Given the description of an element on the screen output the (x, y) to click on. 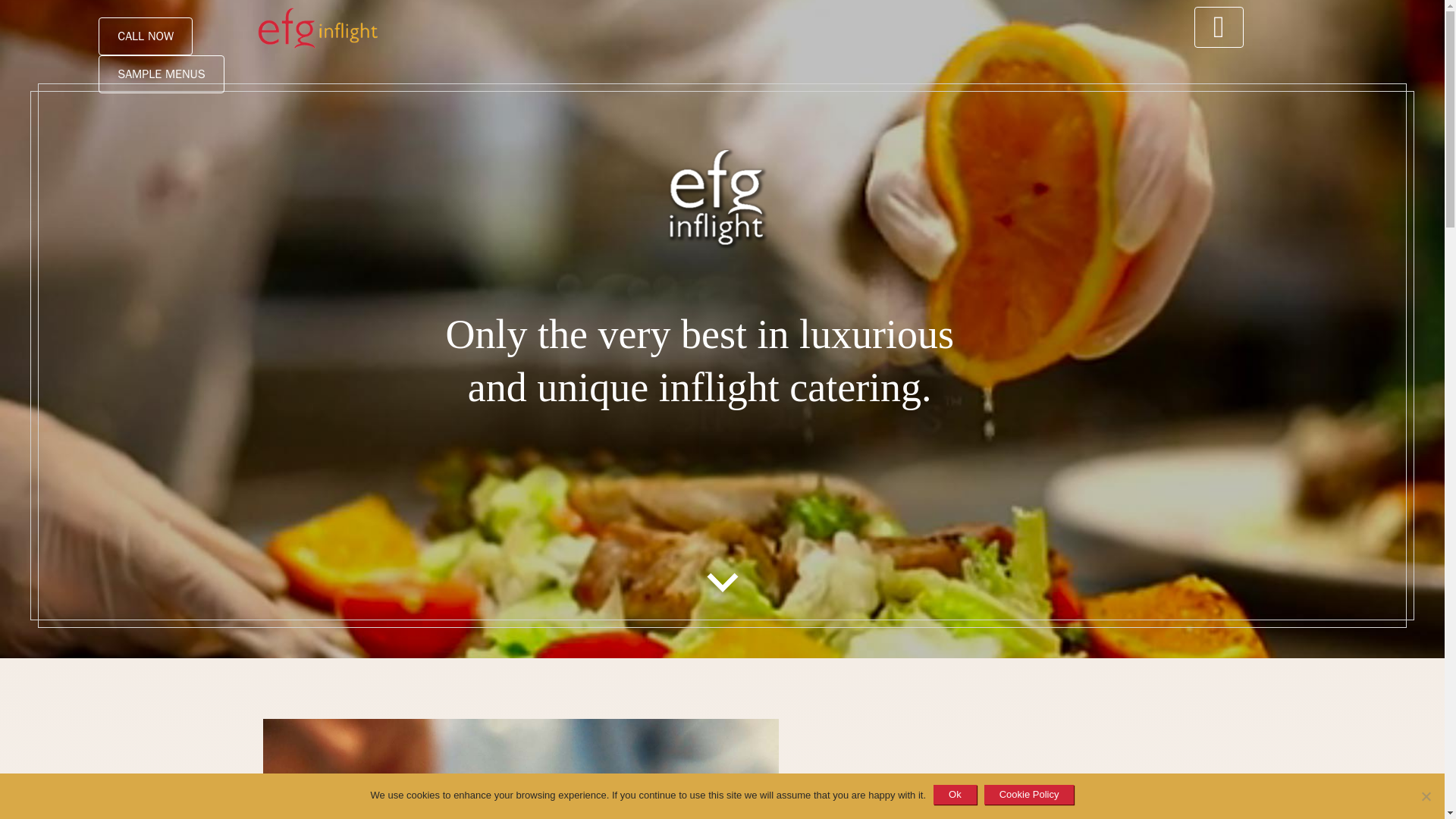
No (1425, 795)
Ok (954, 794)
Menu (1219, 28)
EFG Inflight (291, 28)
CALL NOW (145, 36)
Cookie Policy (1029, 794)
SAMPLE MENUS (160, 73)
